Given the description of an element on the screen output the (x, y) to click on. 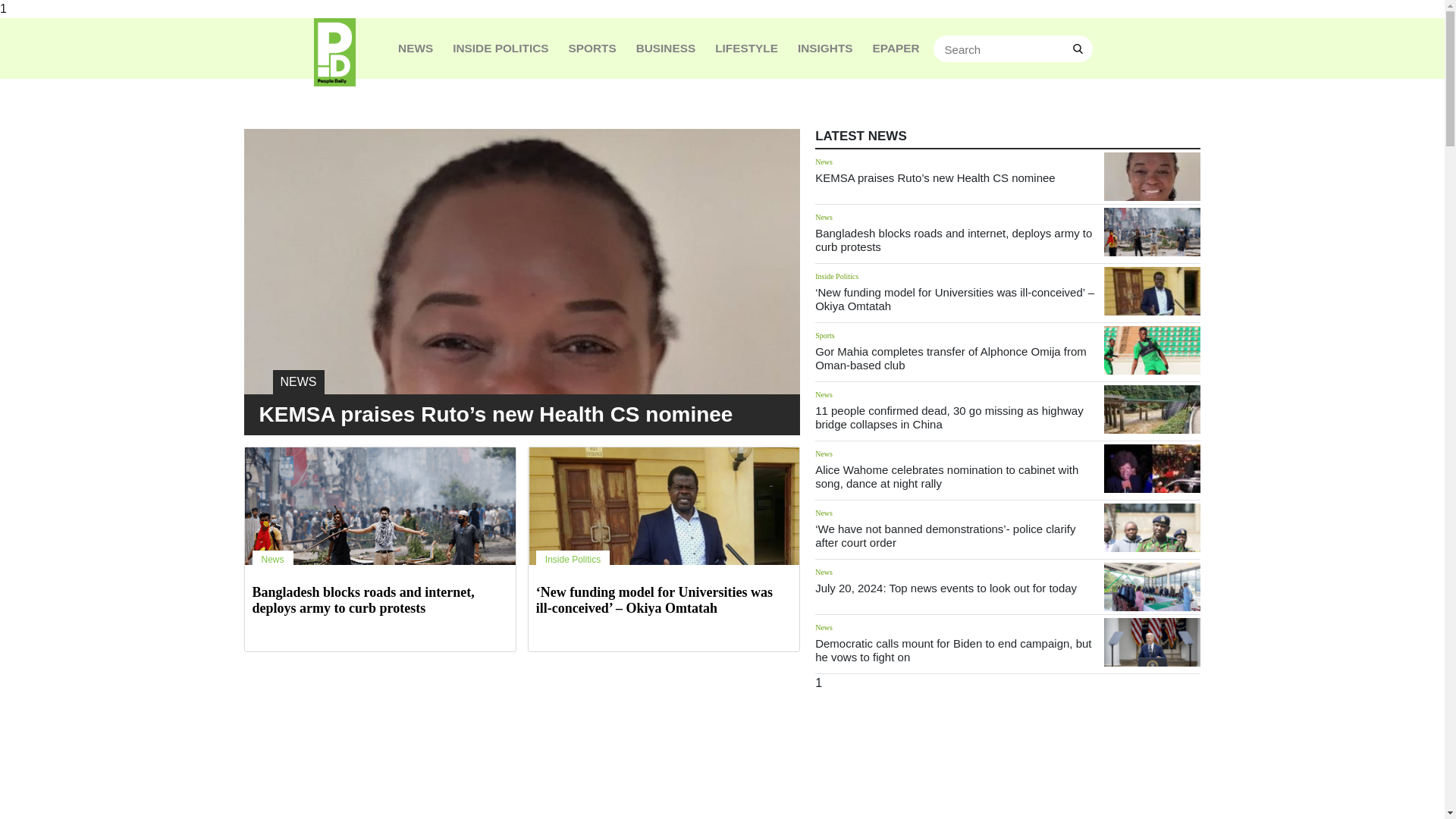
LIFESTYLE (746, 48)
July 20, 2024: Top news events to look out for today (946, 587)
INSIGHTS (825, 48)
NEWS (415, 48)
NEWS (522, 323)
